Given the description of an element on the screen output the (x, y) to click on. 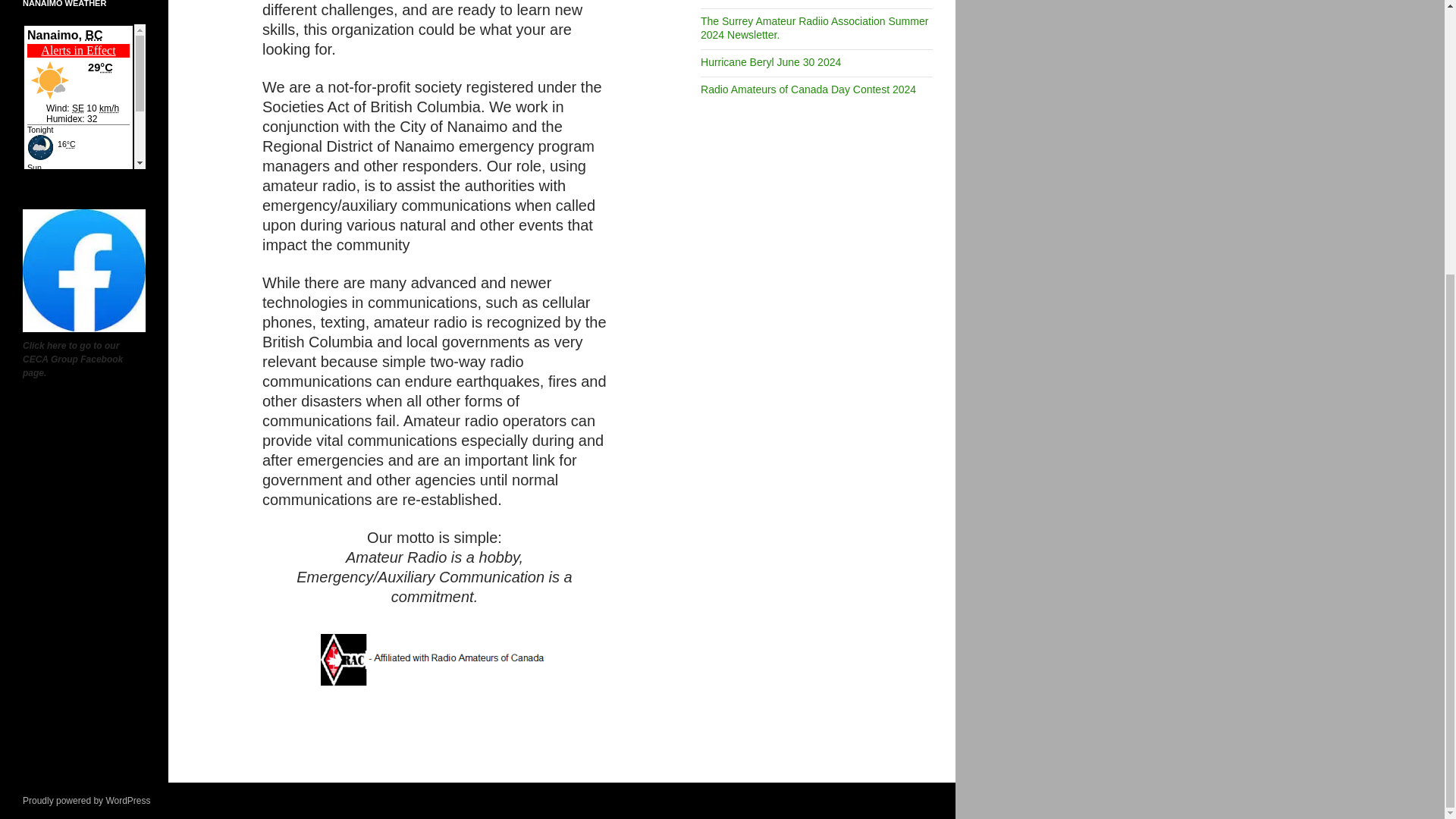
Hurricane Beryl June 30 2024 (770, 61)
Proudly powered by WordPress (87, 800)
Radio Amateurs of Canada Day Contest 2024 (807, 89)
